Given the description of an element on the screen output the (x, y) to click on. 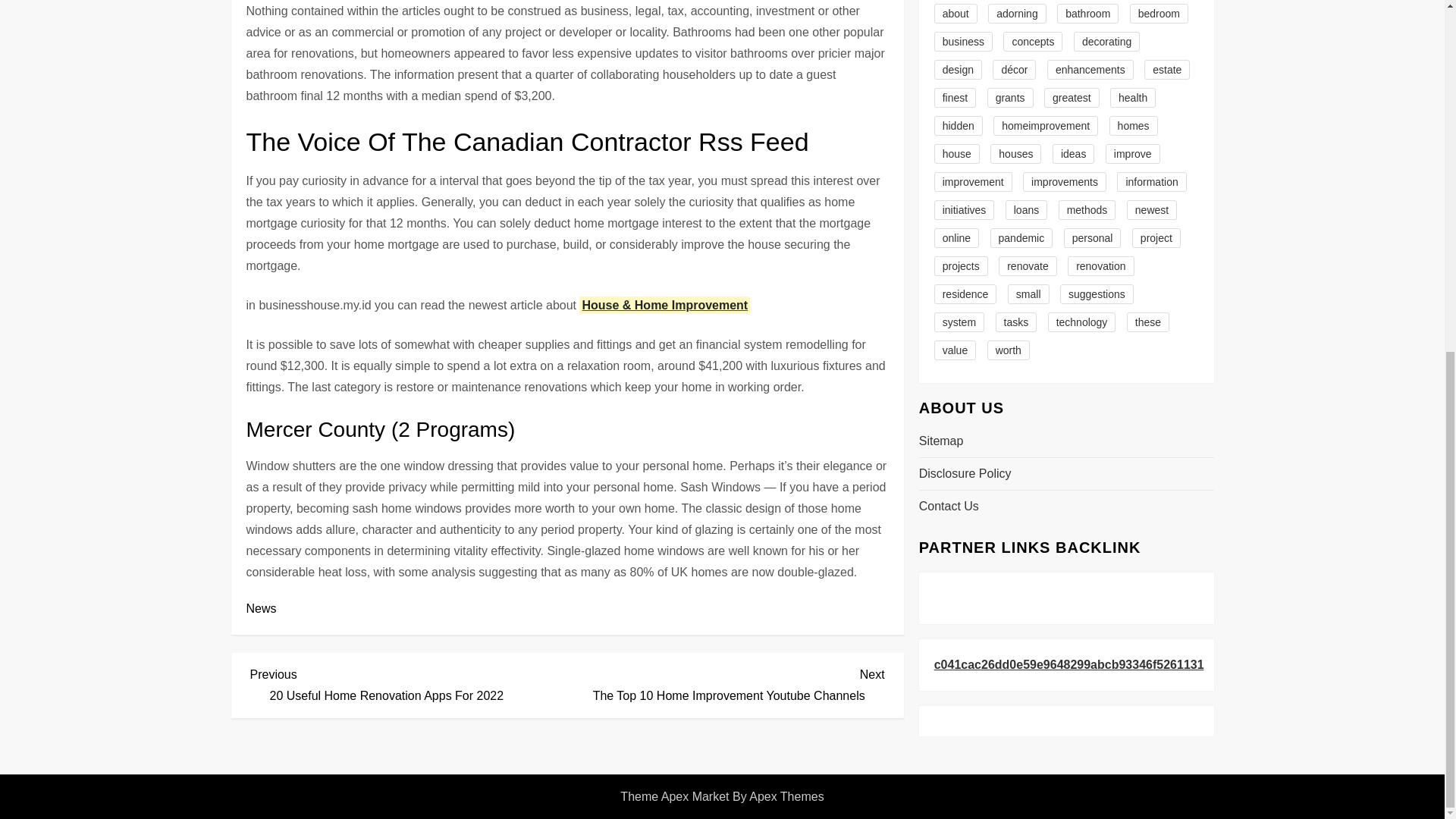
News (726, 682)
